Given the description of an element on the screen output the (x, y) to click on. 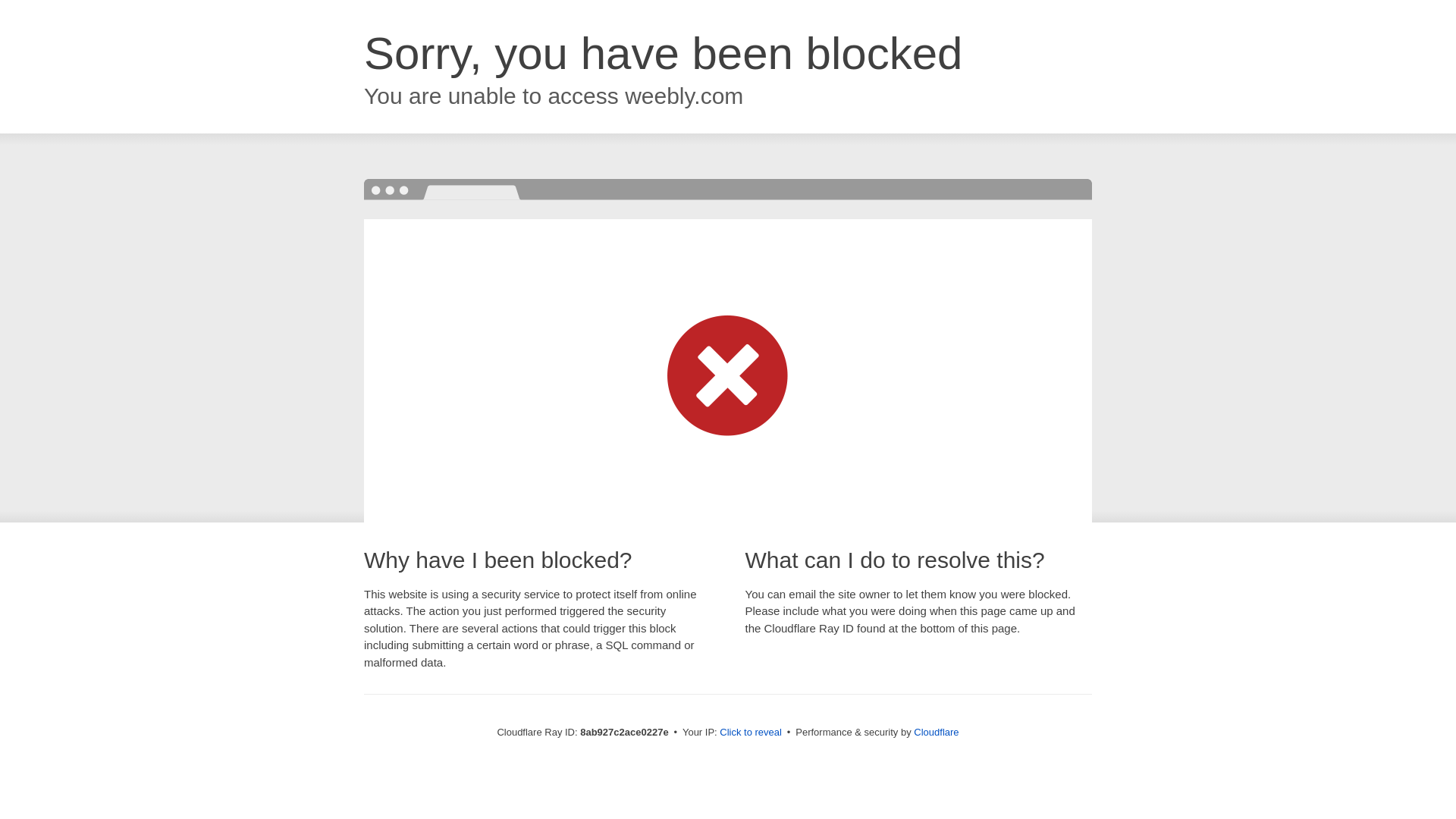
Cloudflare (936, 731)
Click to reveal (750, 732)
